Given the description of an element on the screen output the (x, y) to click on. 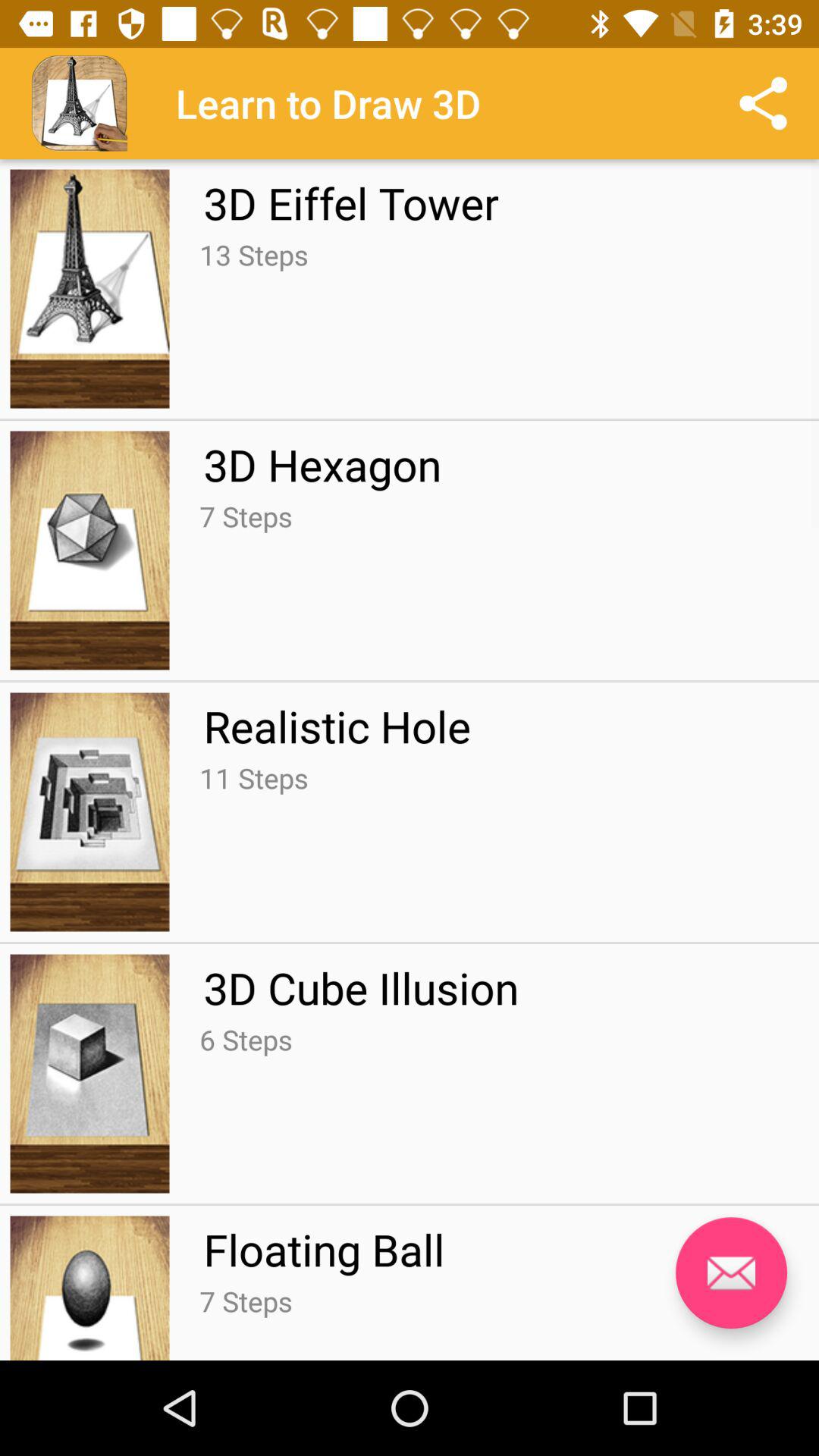
choose the app below the 3d eiffel tower icon (253, 254)
